Given the description of an element on the screen output the (x, y) to click on. 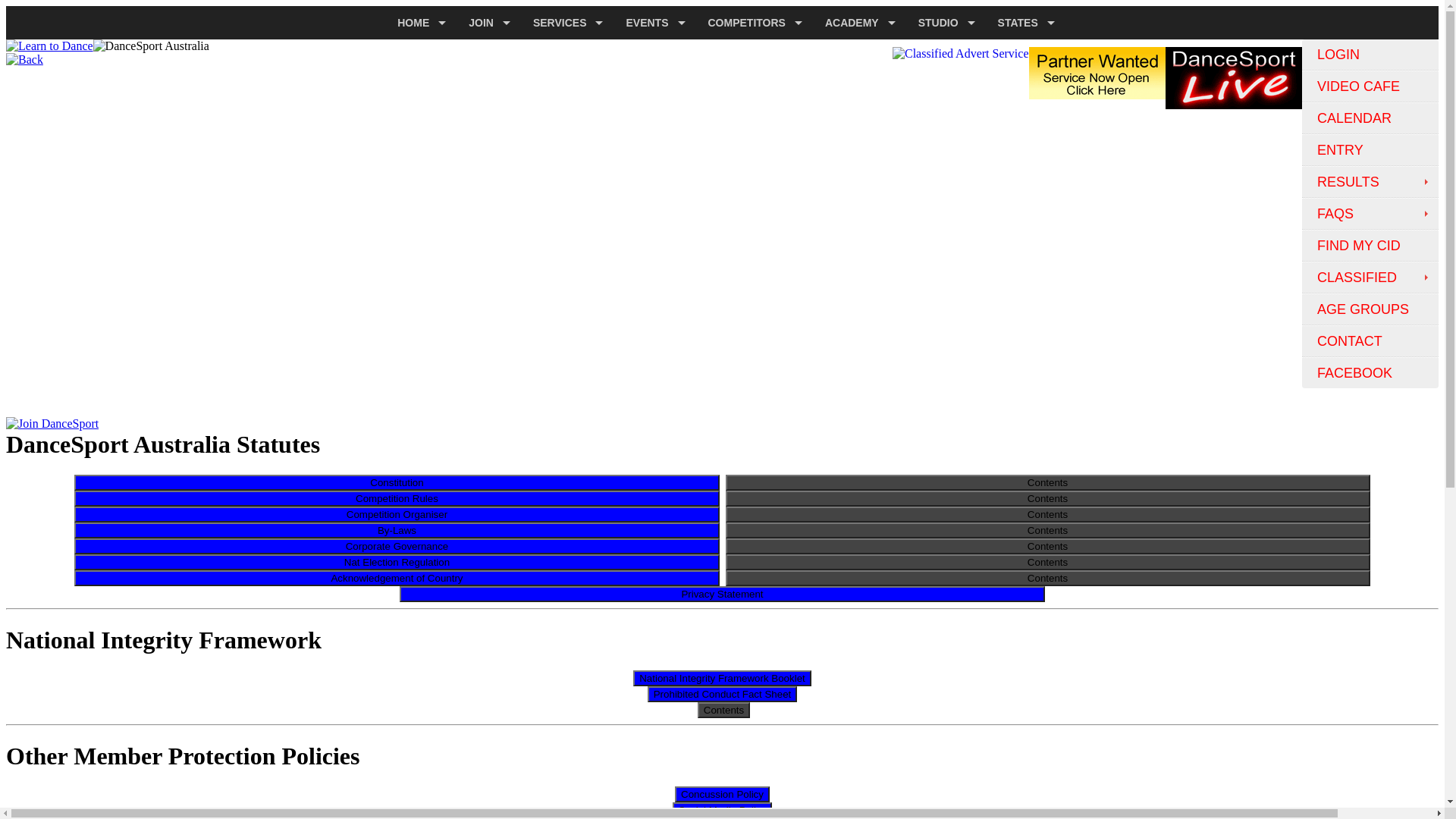
ENTRY Element type: text (1370, 150)
COMPETITORS Element type: text (751, 22)
Privacy Statement Element type: text (721, 592)
JOIN Element type: text (485, 22)
Contents Element type: text (1046, 578)
SERVICES Element type: text (564, 22)
Contents Element type: text (1046, 546)
Contents Element type: text (1046, 530)
FACEBOOK Element type: text (1370, 372)
Corporate Governance Element type: text (396, 546)
LOGIN Element type: text (1370, 54)
CONTACT Element type: text (1370, 341)
By-Laws Element type: text (396, 530)
By-Laws Element type: text (396, 529)
CALENDAR Element type: text (1370, 118)
Acknowledgement of Country Element type: text (396, 578)
Corporate Governance Element type: text (396, 545)
FAQS Element type: text (1370, 213)
CLASSIFIED Element type: text (1370, 277)
Privacy Statement Element type: text (721, 594)
STUDIO Element type: text (942, 22)
Contents Element type: text (1046, 498)
RESULTS Element type: text (1370, 181)
HOME Element type: text (417, 22)
Constitution Element type: text (396, 482)
ACADEMY Element type: text (856, 22)
Contents Element type: text (1046, 514)
Contents Element type: text (1046, 482)
Concussion Policy Element type: text (721, 794)
STATES Element type: text (1022, 22)
National Integrity Framework Booklet Element type: text (722, 677)
Contents Element type: text (723, 710)
Competition Rules Element type: text (396, 497)
Contents Element type: text (1046, 562)
Prohibited Conduct Fact Sheet Element type: text (722, 693)
Competition Rules Element type: text (396, 498)
VIDEO CAFE Element type: text (1370, 86)
Nat Election Regulation Element type: text (396, 562)
Competition Organiser Element type: text (396, 513)
Prohibited Conduct Fact Sheet Element type: text (722, 694)
Constitution Element type: text (396, 481)
Nat Election Regulation Element type: text (396, 561)
Social Media Policy Element type: text (722, 810)
FIND MY CID Element type: text (1370, 245)
Competition Organiser Element type: text (396, 514)
Concussion Policy Element type: text (721, 793)
Acknowledgement of Country Element type: text (396, 577)
Social Media Policy Element type: text (722, 809)
EVENTS Element type: text (651, 22)
National Integrity Framework Booklet Element type: text (722, 678)
AGE GROUPS Element type: text (1370, 309)
